Given the description of an element on the screen output the (x, y) to click on. 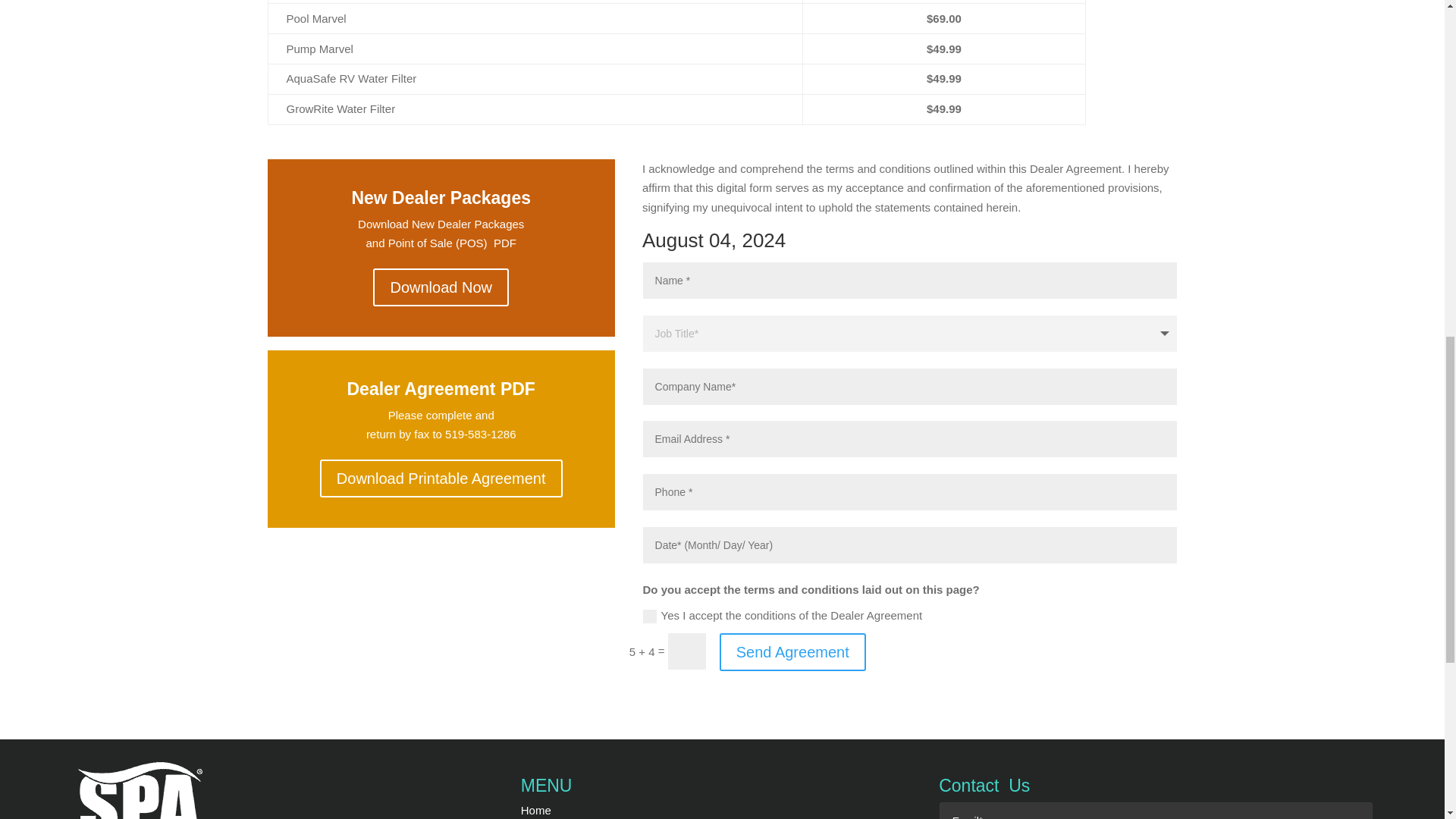
spalogob (141, 790)
Only numbers allowed. (910, 492)
